Given the description of an element on the screen output the (x, y) to click on. 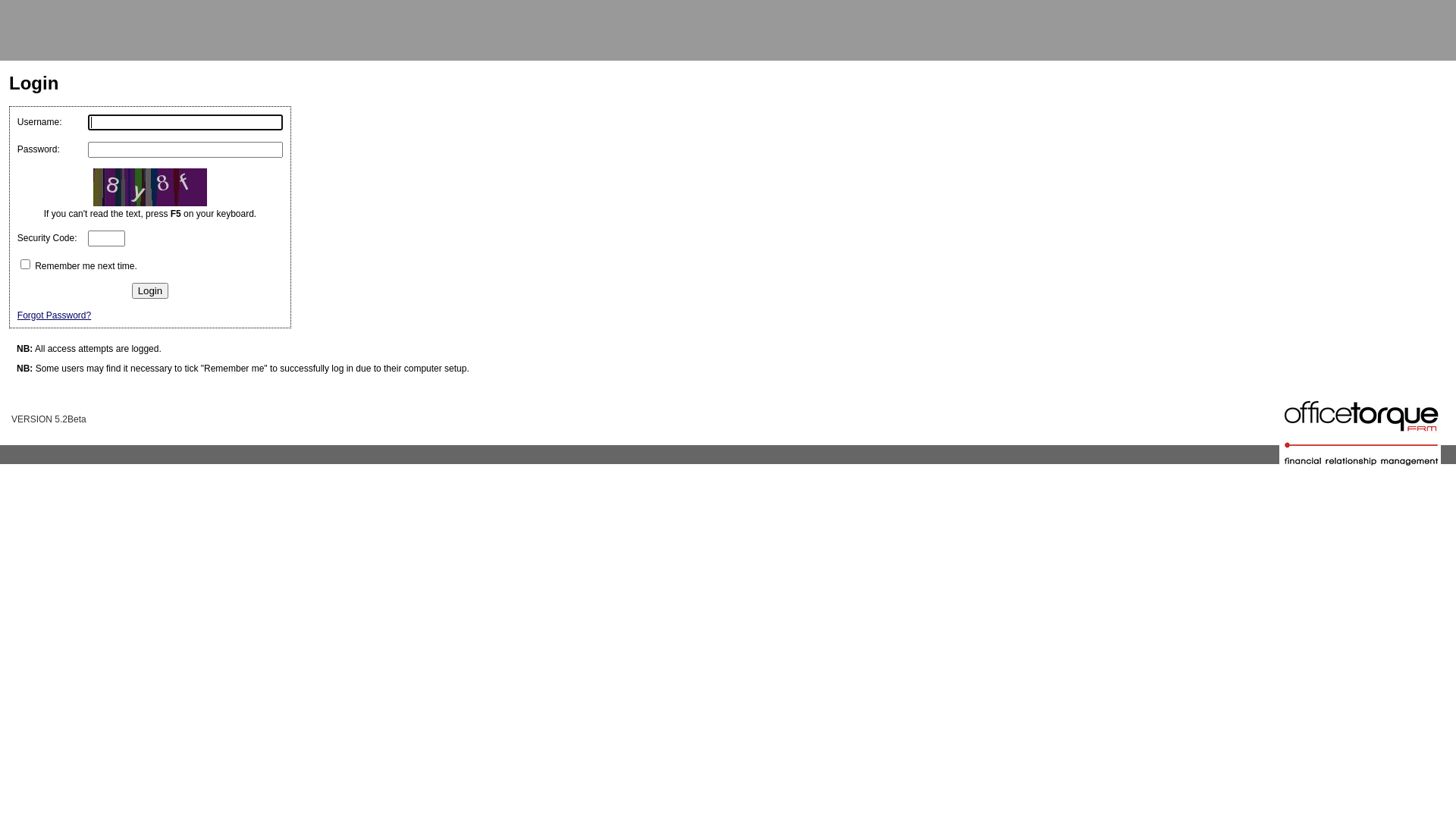
OfficeTorque Element type: text (36, 400)
Login Element type: text (150, 290)
Forgot Password? Element type: text (54, 315)
